Given the description of an element on the screen output the (x, y) to click on. 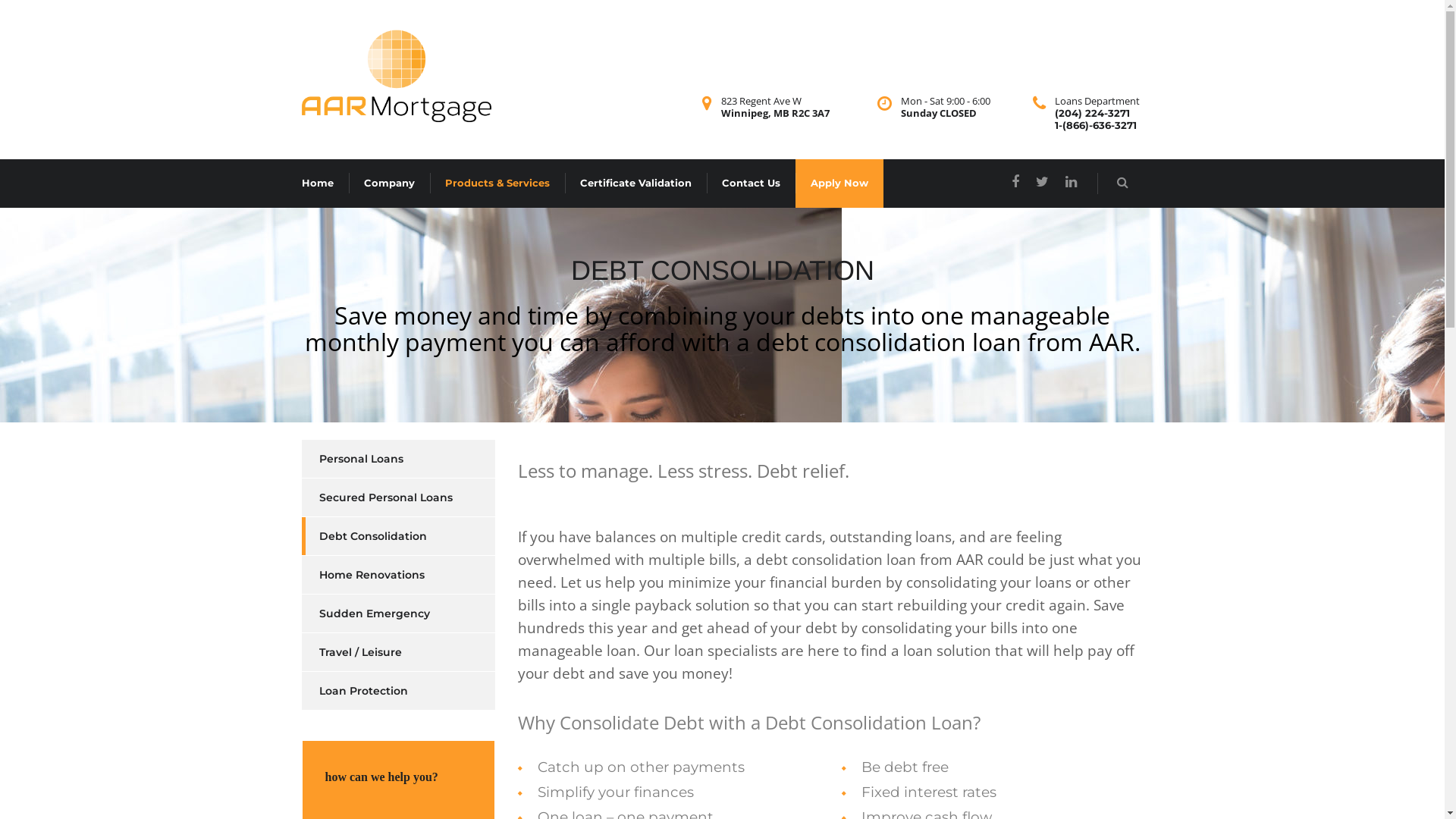
Secured Personal Loans Element type: text (376, 497)
Debt Consolidation Element type: text (363, 536)
Certificate Validation Element type: text (635, 183)
Company Element type: text (388, 183)
Contact Us Element type: text (750, 183)
Personal Loans Element type: text (352, 458)
Travel / Leisure Element type: text (351, 652)
Home Renovations Element type: text (362, 574)
Apply Now Element type: text (838, 183)
Home Element type: text (317, 183)
Sudden Emergency Element type: text (365, 613)
Products & Services Element type: text (496, 183)
Loan Protection Element type: text (354, 690)
